Given the description of an element on the screen output the (x, y) to click on. 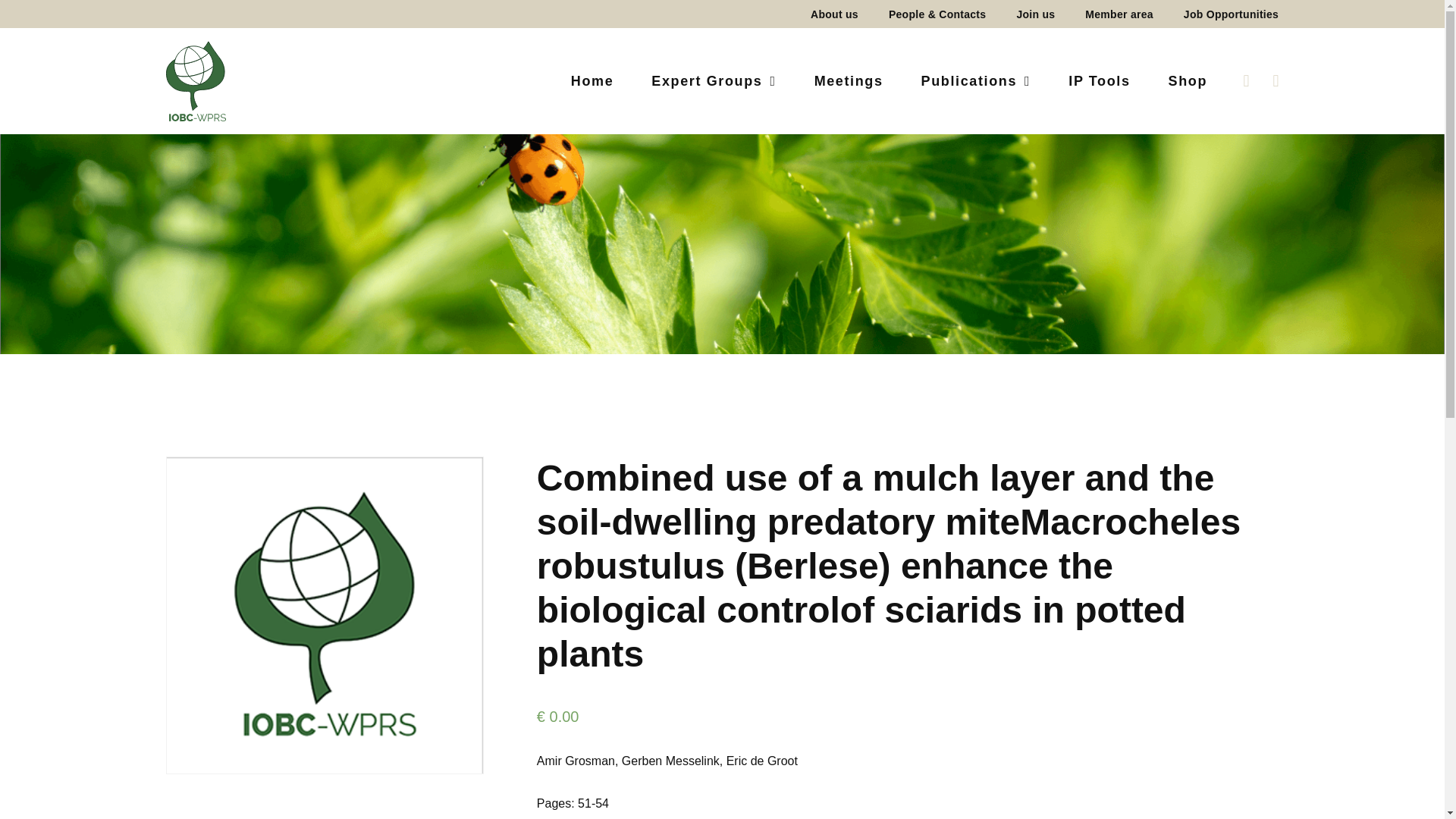
About us (833, 14)
Expert Groups (712, 80)
Home (592, 80)
Meetings (848, 80)
IP Tools (1098, 80)
Job Opportunities (1223, 14)
Publications (975, 80)
Shop (1178, 80)
Member area (1118, 14)
Join us (1035, 14)
